Given the description of an element on the screen output the (x, y) to click on. 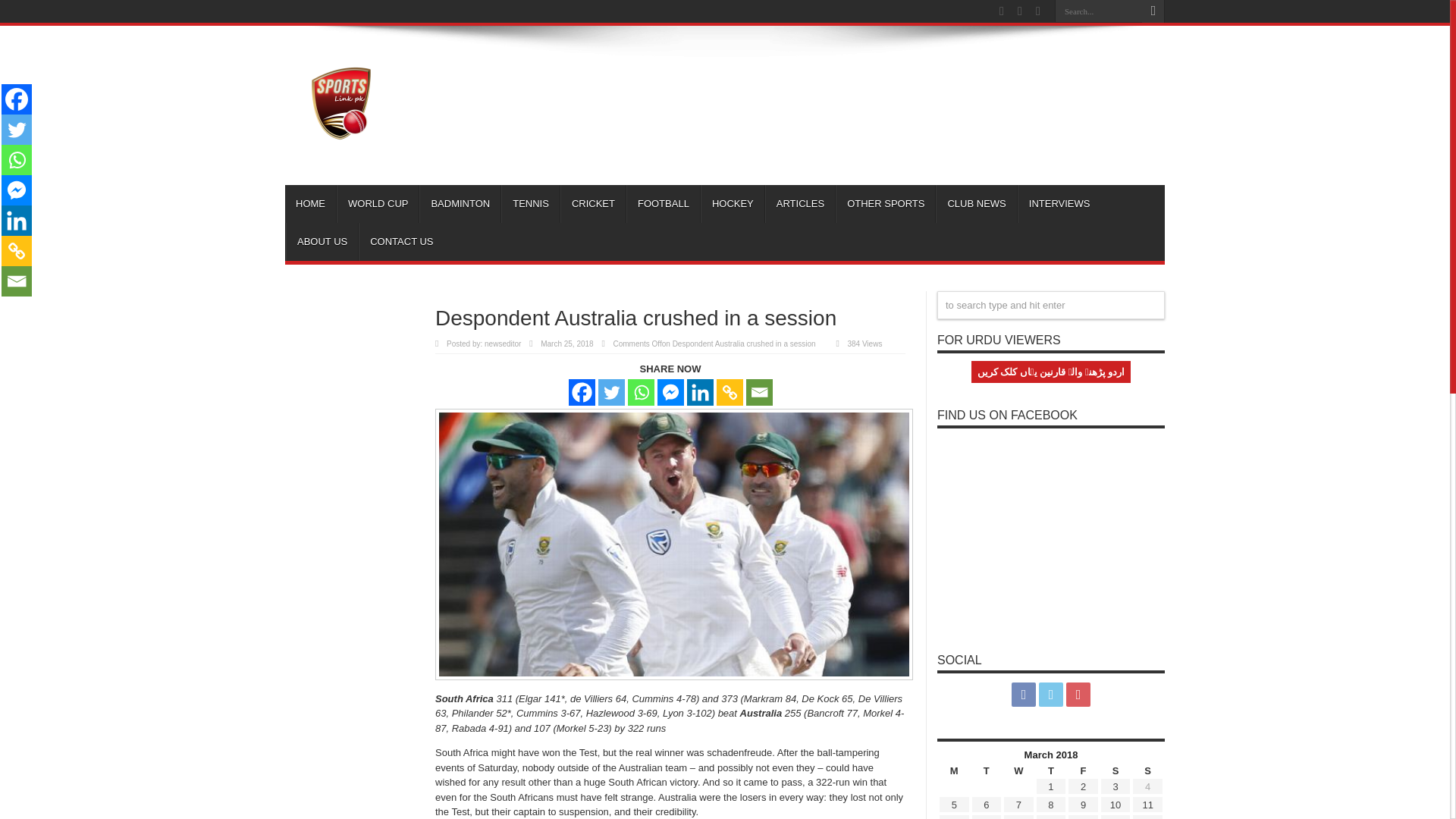
Linkedin (700, 392)
INTERVIEWS (1058, 203)
Whatsapp (640, 392)
Copy Link (16, 250)
Facebook (16, 99)
Facebook (582, 392)
Twitter (610, 392)
to search type and hit enter (1050, 305)
Search (1152, 11)
Sportslinkpk (341, 146)
